Given the description of an element on the screen output the (x, y) to click on. 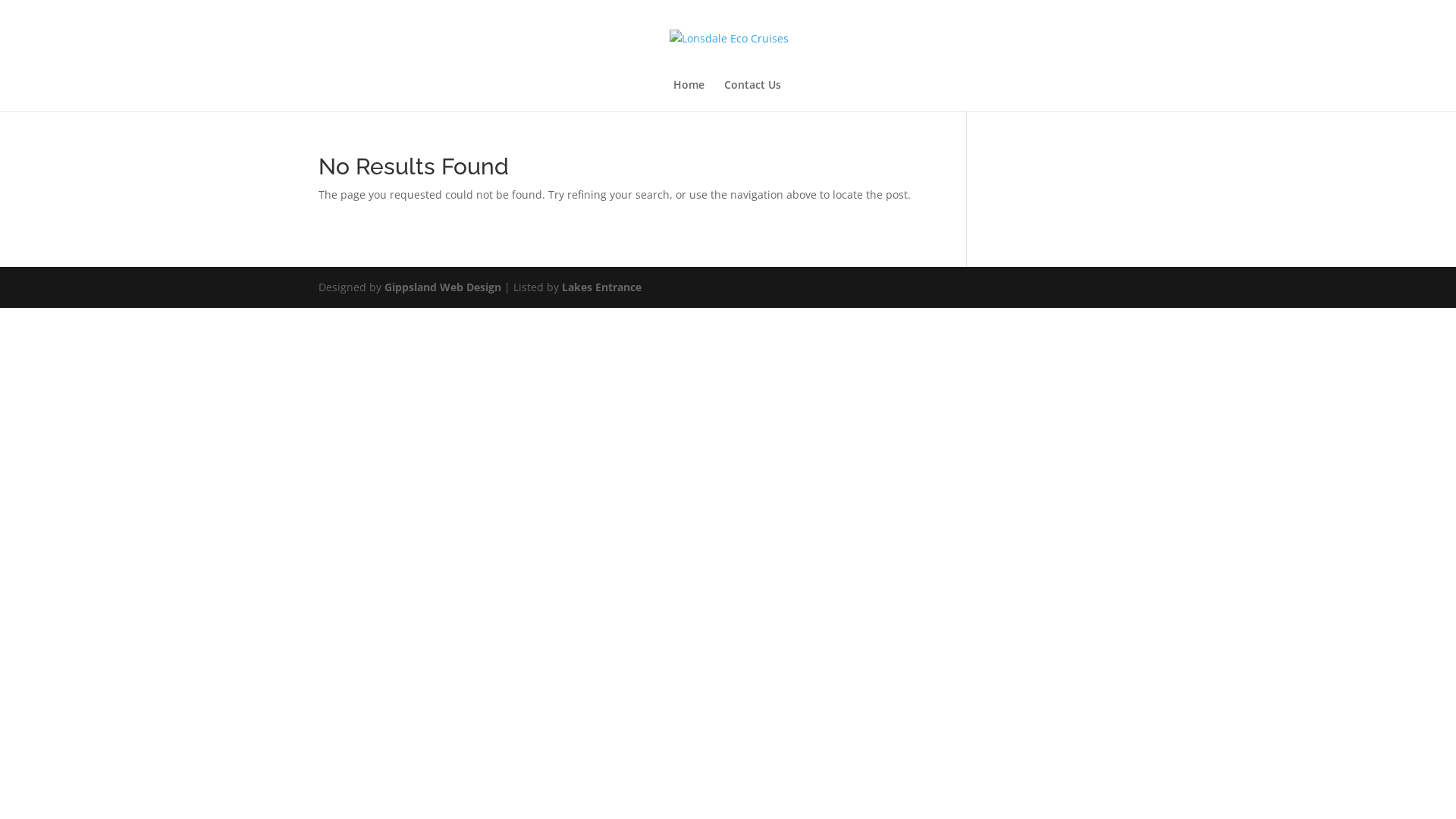
Lakes Entrance Element type: text (601, 286)
Gippsland Web Design Element type: text (442, 286)
Contact Us Element type: text (752, 95)
Home Element type: text (688, 95)
